Given the description of an element on the screen output the (x, y) to click on. 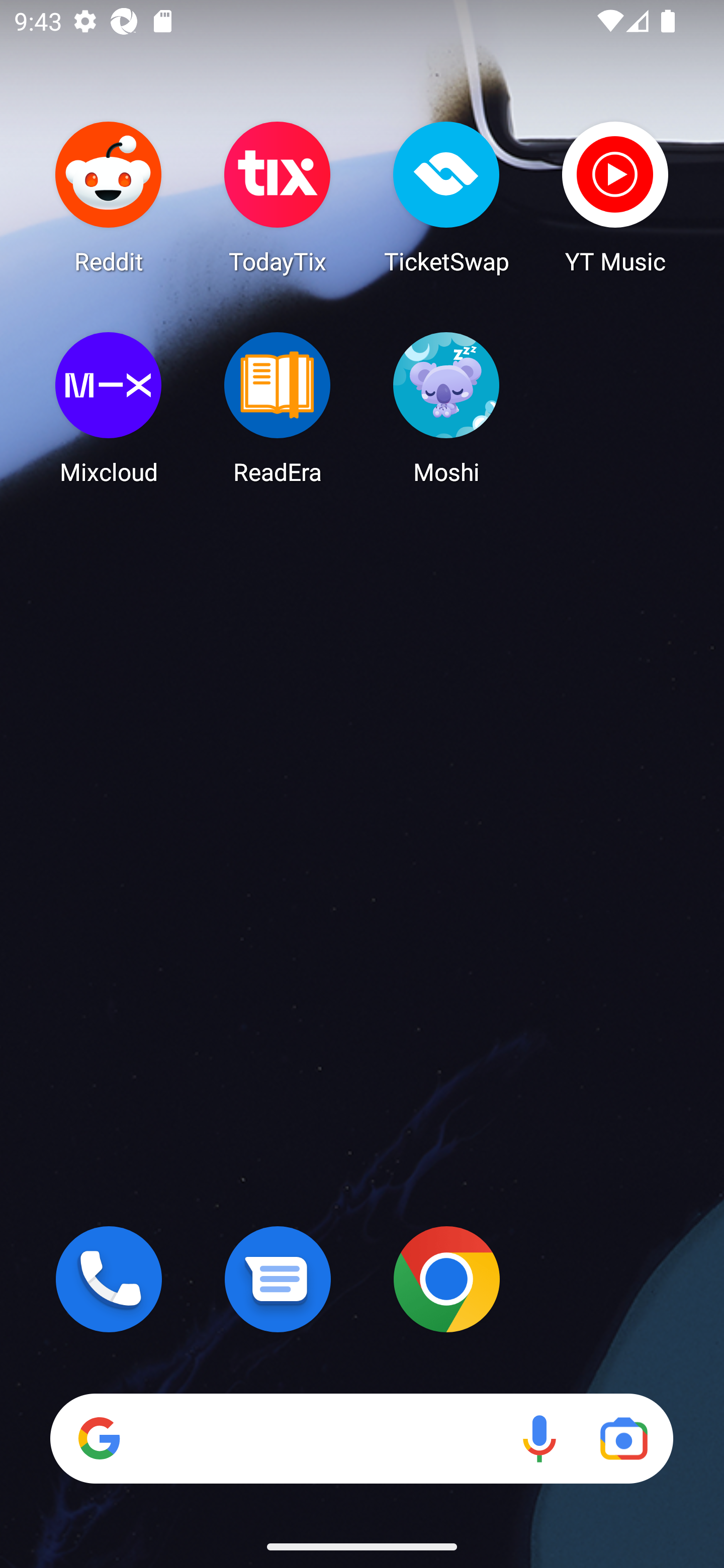
Reddit (108, 196)
TodayTix (277, 196)
TicketSwap (445, 196)
YT Music (615, 196)
Mixcloud (108, 407)
ReadEra (277, 407)
Moshi (445, 407)
Phone (108, 1279)
Messages (277, 1279)
Chrome (446, 1279)
Voice search (539, 1438)
Google Lens (623, 1438)
